Given the description of an element on the screen output the (x, y) to click on. 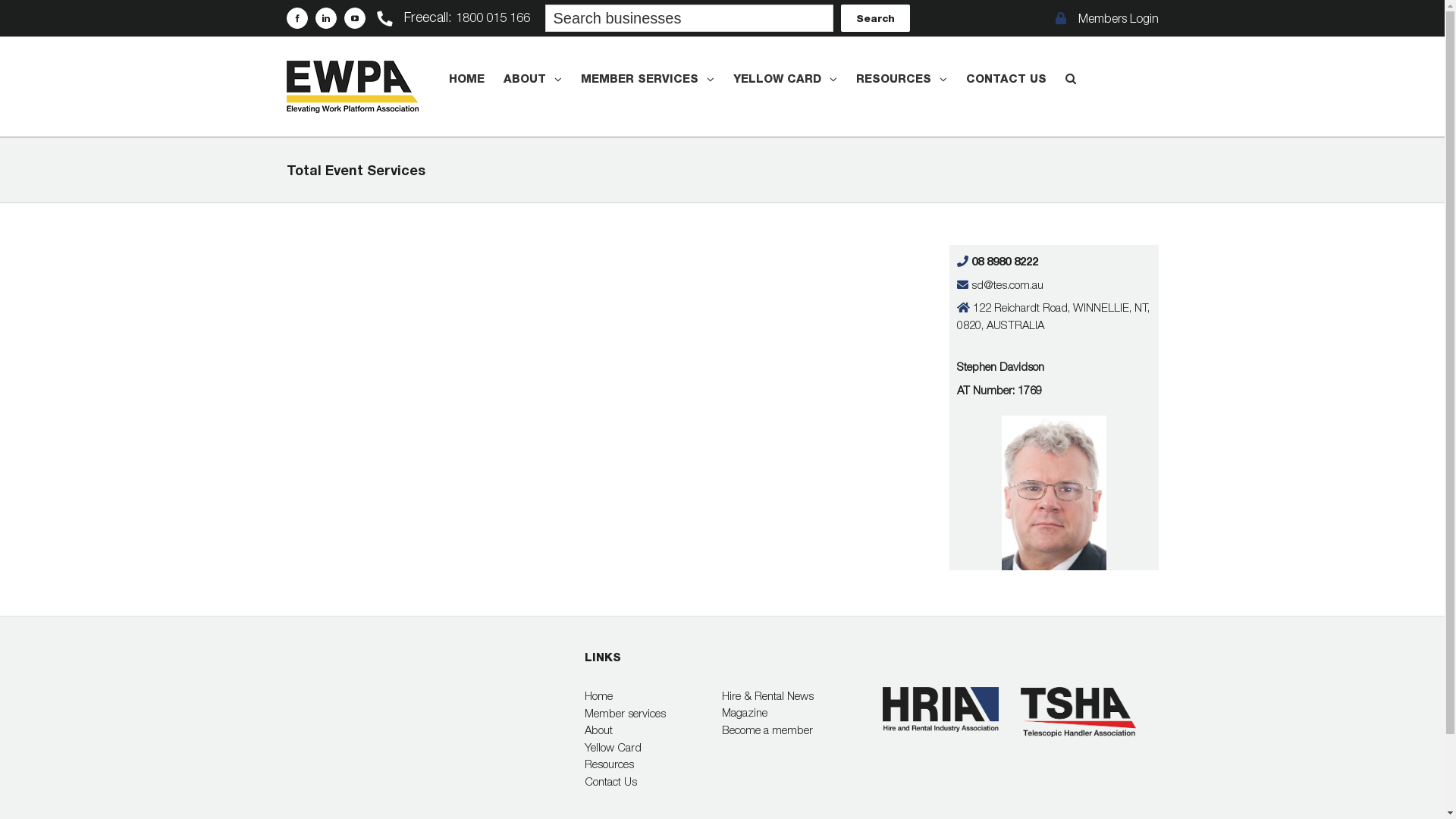
Become a member Element type: text (790, 729)
Facebook Element type: text (296, 17)
Home Element type: text (653, 695)
ABOUT Element type: text (532, 78)
Resources Element type: text (653, 763)
1800 015 166 Element type: text (492, 17)
YELLOW CARD Element type: text (784, 78)
About Element type: text (653, 729)
RESOURCES Element type: text (900, 78)
Yellow Card Element type: text (653, 747)
HOME Element type: text (466, 78)
Member services Element type: text (653, 712)
Search Element type: text (874, 17)
CONTACT US Element type: text (1006, 78)
Members Login Element type: text (1106, 18)
LinkedIn Element type: text (325, 17)
Contact Us Element type: text (653, 781)
Search Element type: hover (1069, 78)
MEMBER SERVICES Element type: text (647, 78)
Hire & Rental News Magazine Element type: text (790, 704)
YouTube Element type: text (354, 17)
